Given the description of an element on the screen output the (x, y) to click on. 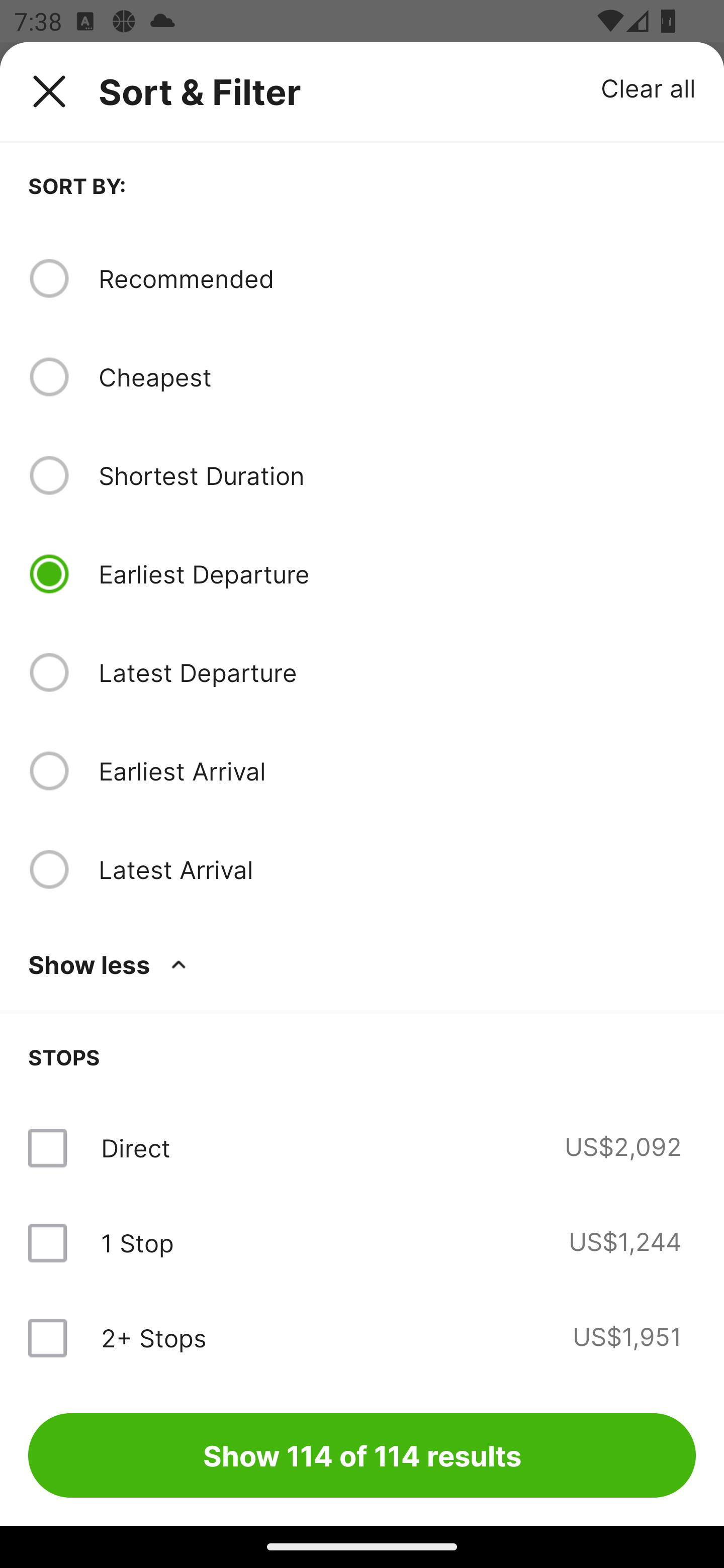
Clear all (648, 87)
Recommended  (396, 278)
Cheapest (396, 377)
Shortest Duration (396, 474)
Earliest Departure (396, 573)
Latest Departure (396, 672)
Earliest Arrival (396, 770)
Latest Arrival (396, 869)
Show less (110, 964)
Direct US$2,092 (362, 1147)
Direct (135, 1147)
1 Stop US$1,244 (362, 1242)
1 Stop (136, 1242)
2+ Stops US$1,951 (362, 1337)
2+ Stops (153, 1337)
Show 114 of 114 results (361, 1454)
